Given the description of an element on the screen output the (x, y) to click on. 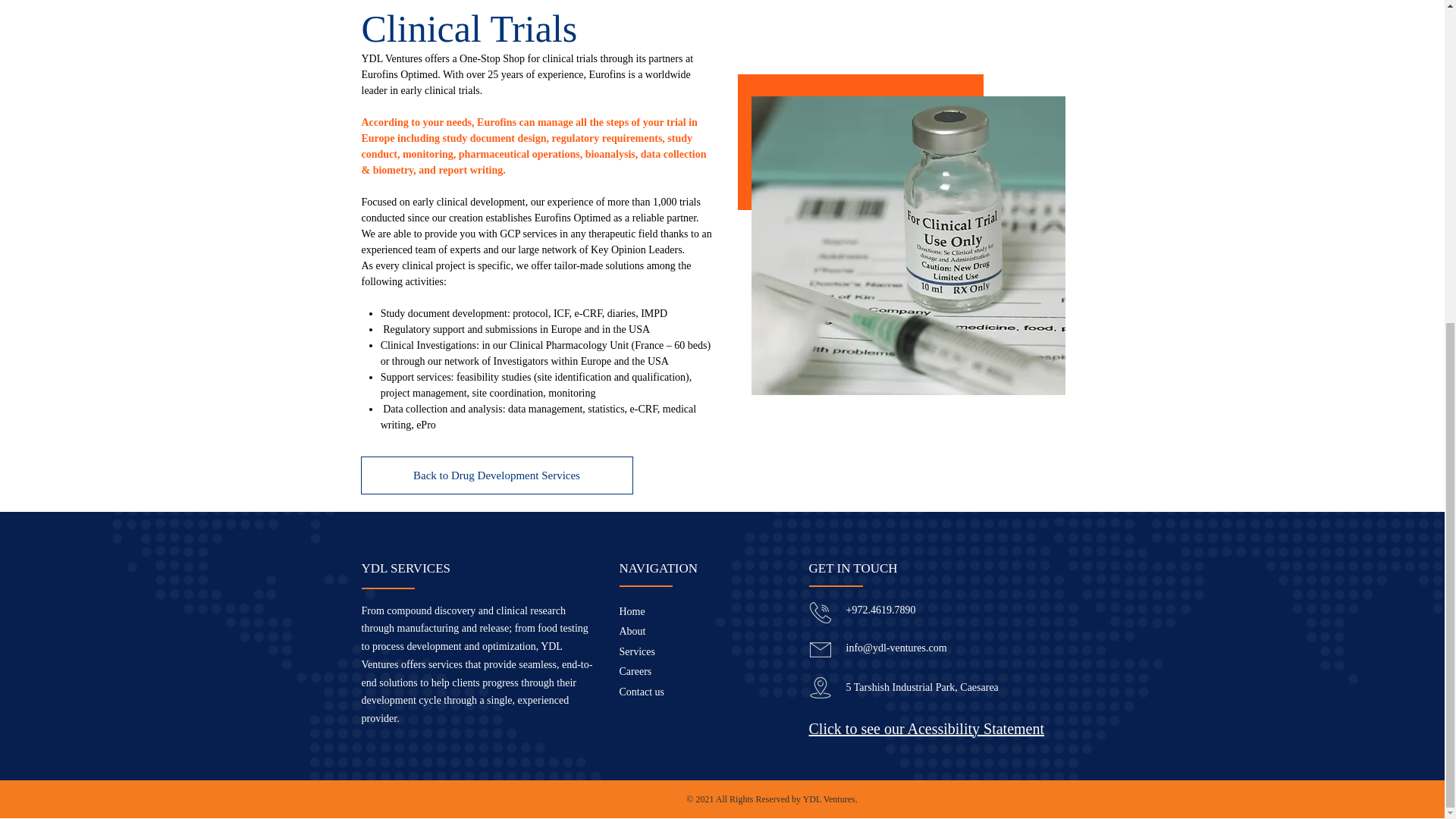
Click to see our Acessibility Statement (925, 727)
Back to Drug Development Services (497, 475)
